Given the description of an element on the screen output the (x, y) to click on. 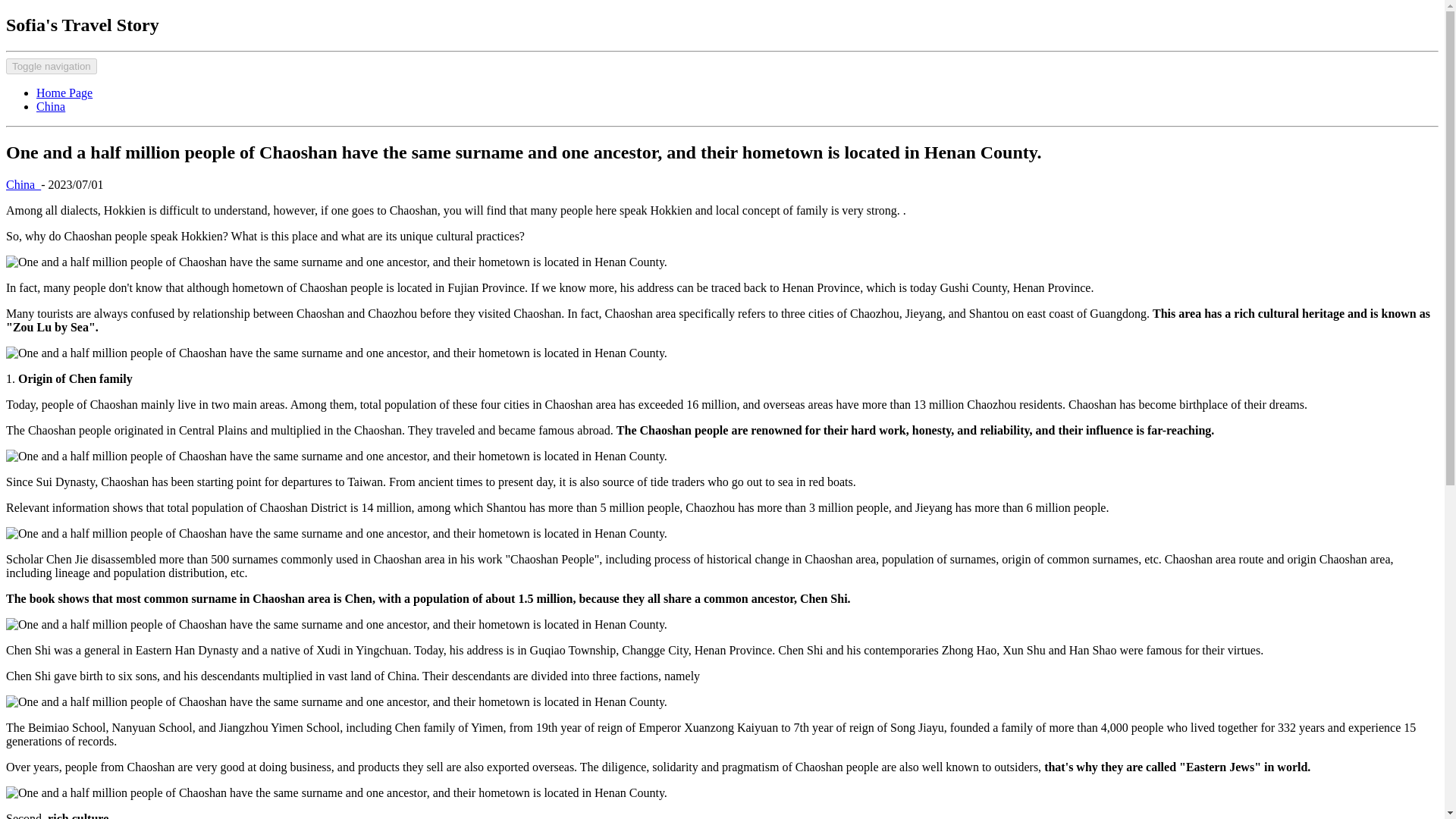
China (50, 106)
China   (22, 184)
Toggle navigation (51, 66)
Home Page (64, 92)
